Given the description of an element on the screen output the (x, y) to click on. 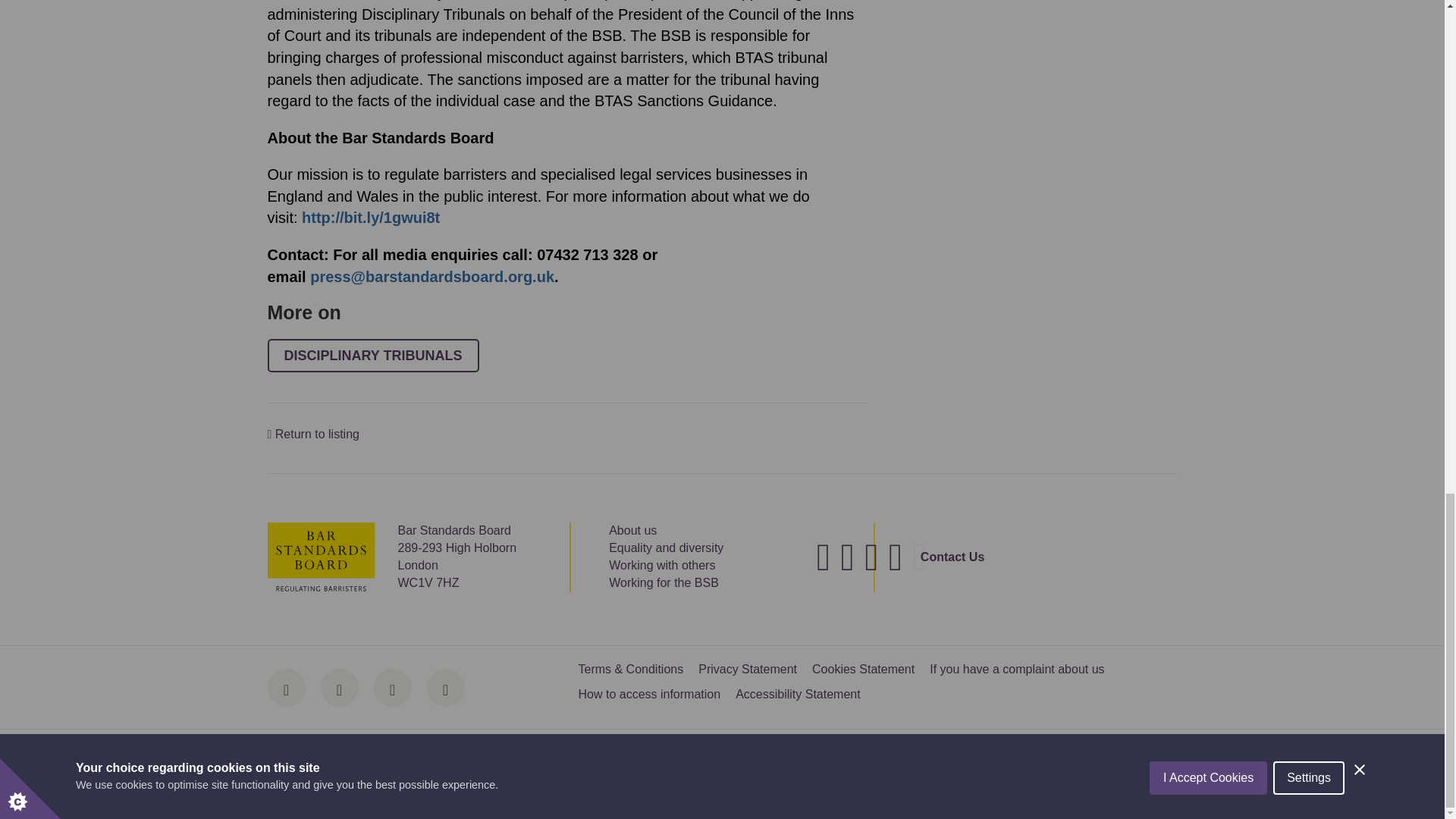
Cookies Statement (863, 668)
Privacy Statement (747, 668)
If you have a complaint about us (1016, 668)
Facebook (285, 687)
